Given the description of an element on the screen output the (x, y) to click on. 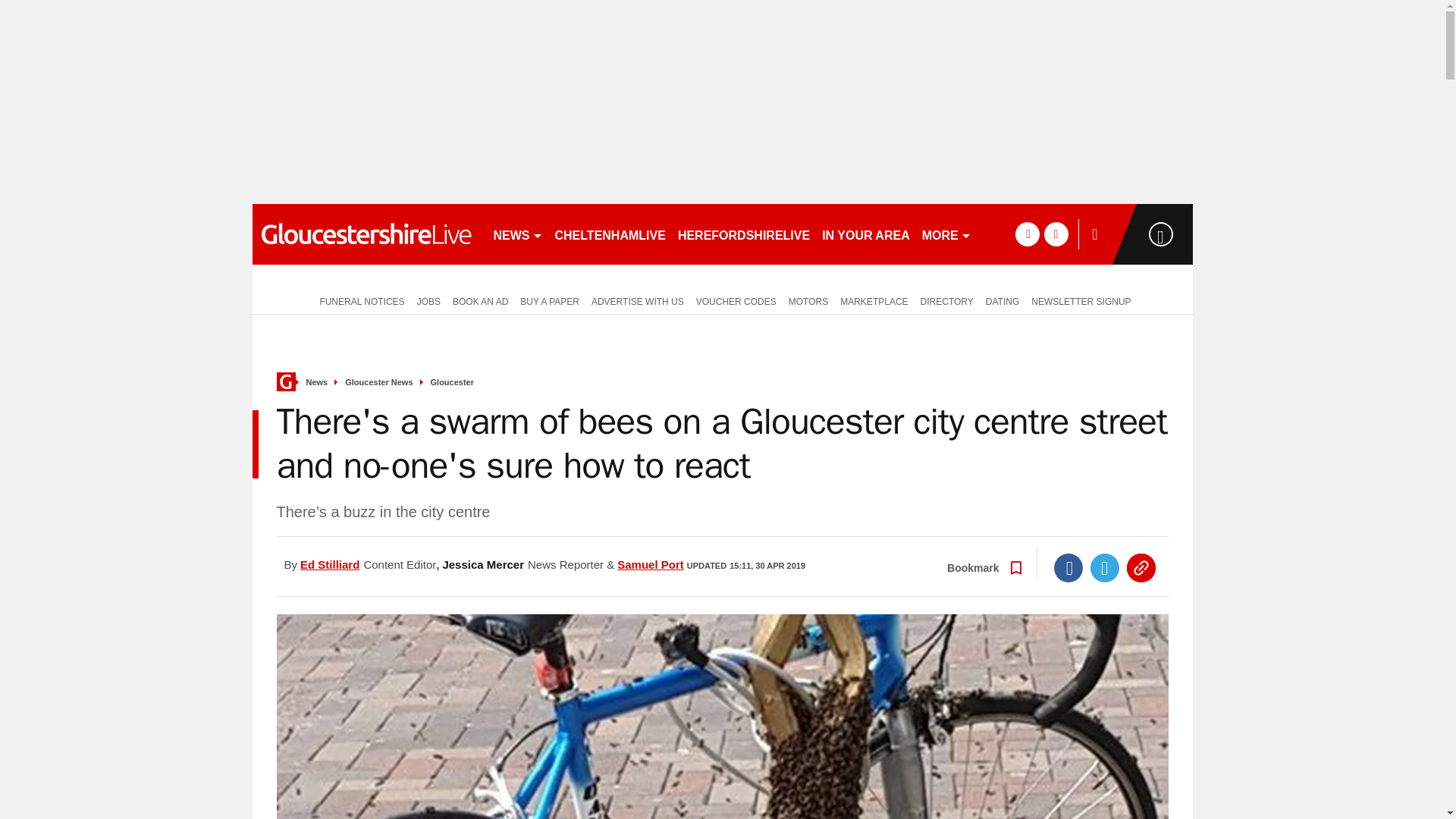
Twitter (1104, 567)
HEREFORDSHIRELIVE (743, 233)
NEWS (517, 233)
IN YOUR AREA (865, 233)
MORE (945, 233)
gloucestershirelive (365, 233)
CHELTENHAMLIVE (609, 233)
twitter (1055, 233)
Facebook (1068, 567)
facebook (1026, 233)
